Given the description of an element on the screen output the (x, y) to click on. 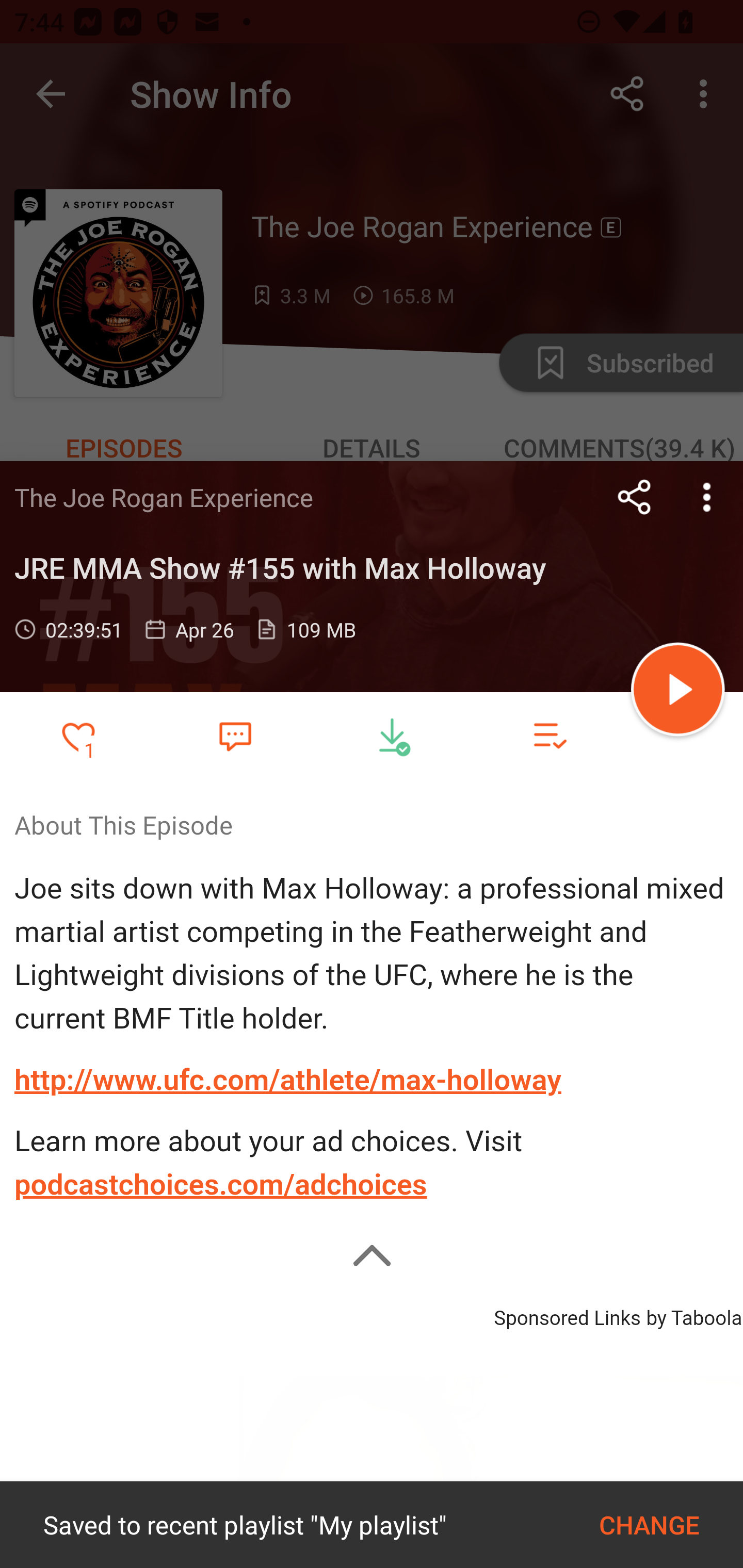
Share (634, 496)
more options (706, 496)
Play (677, 692)
Favorite (234, 735)
Add to Favorites (78, 735)
Downloaded (391, 735)
Add to playlist (548, 735)
http://www.ufc.com/athlete/max-holloway (287, 1079)
podcastchoices.com/adchoices (220, 1184)
Sponsored Links (566, 1314)
by Taboola (693, 1314)
Saved to recent playlist "My playlist" CHANGE (371, 1524)
CHANGE (648, 1524)
